Given the description of an element on the screen output the (x, y) to click on. 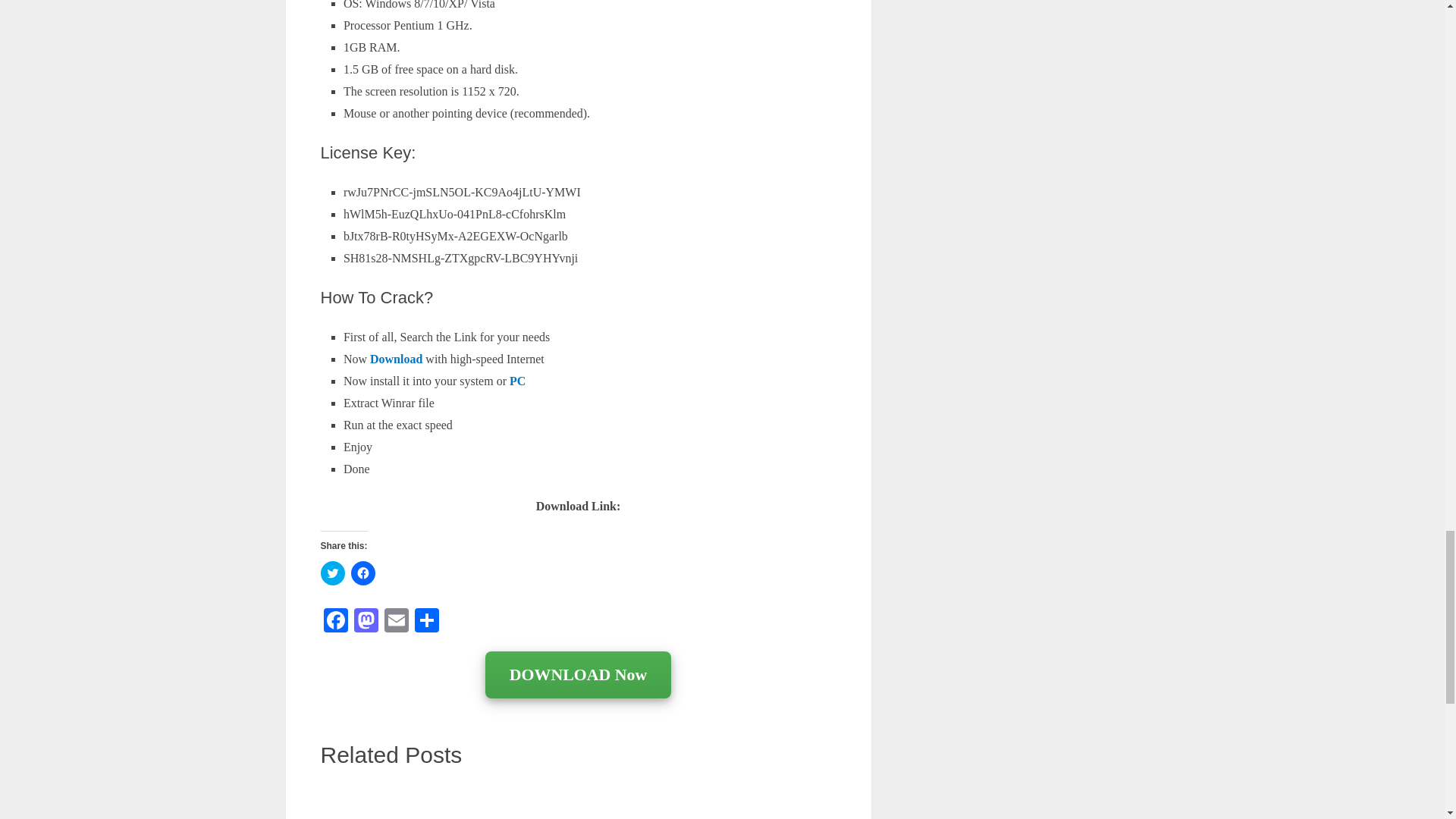
PC (515, 380)
Email (395, 622)
DOWNLOAD Now (577, 675)
Email (395, 622)
Facebook (335, 622)
Click to share on Facebook (362, 573)
Click to share on Twitter (331, 573)
Download (395, 358)
Facebook (335, 622)
Mastodon (365, 622)
